Given the description of an element on the screen output the (x, y) to click on. 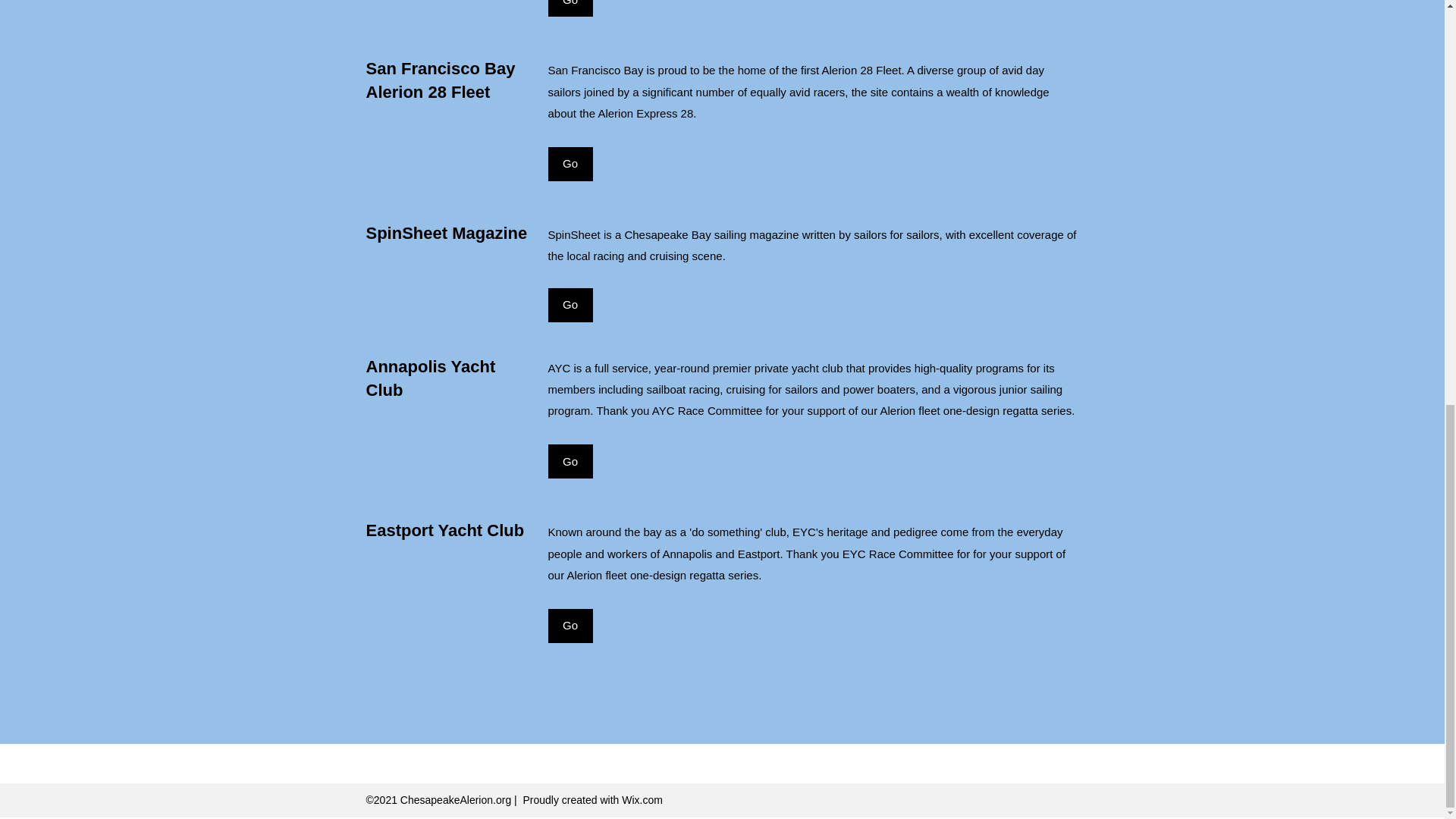
Go (569, 305)
Go (569, 625)
Go (569, 163)
Go (569, 8)
Go (569, 461)
